Given the description of an element on the screen output the (x, y) to click on. 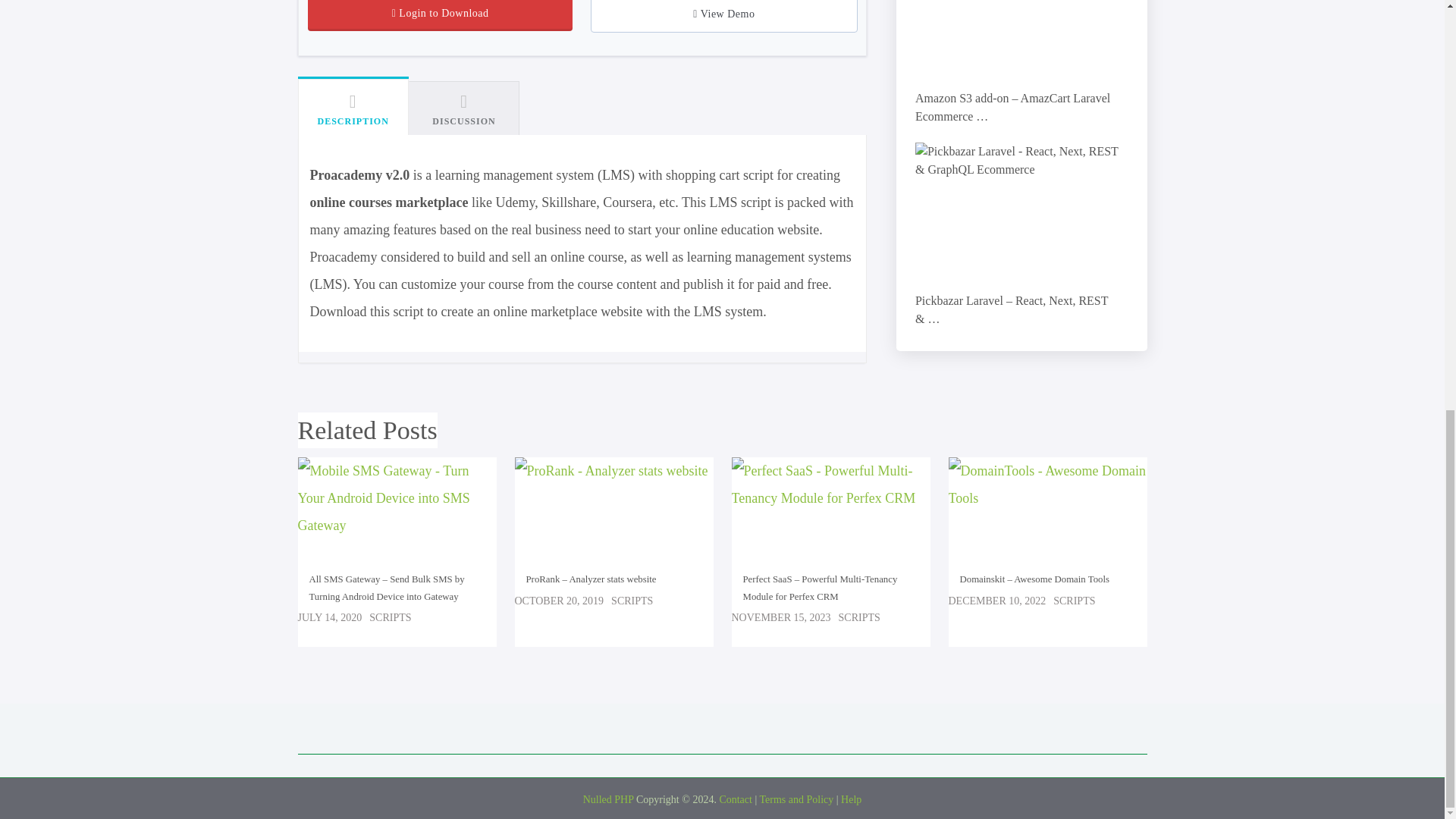
Login to Download (439, 15)
Download link are locked (439, 15)
DESCRIPTION (352, 106)
DISCUSSION (464, 108)
View Demo (724, 15)
View Demo (724, 15)
